Given the description of an element on the screen output the (x, y) to click on. 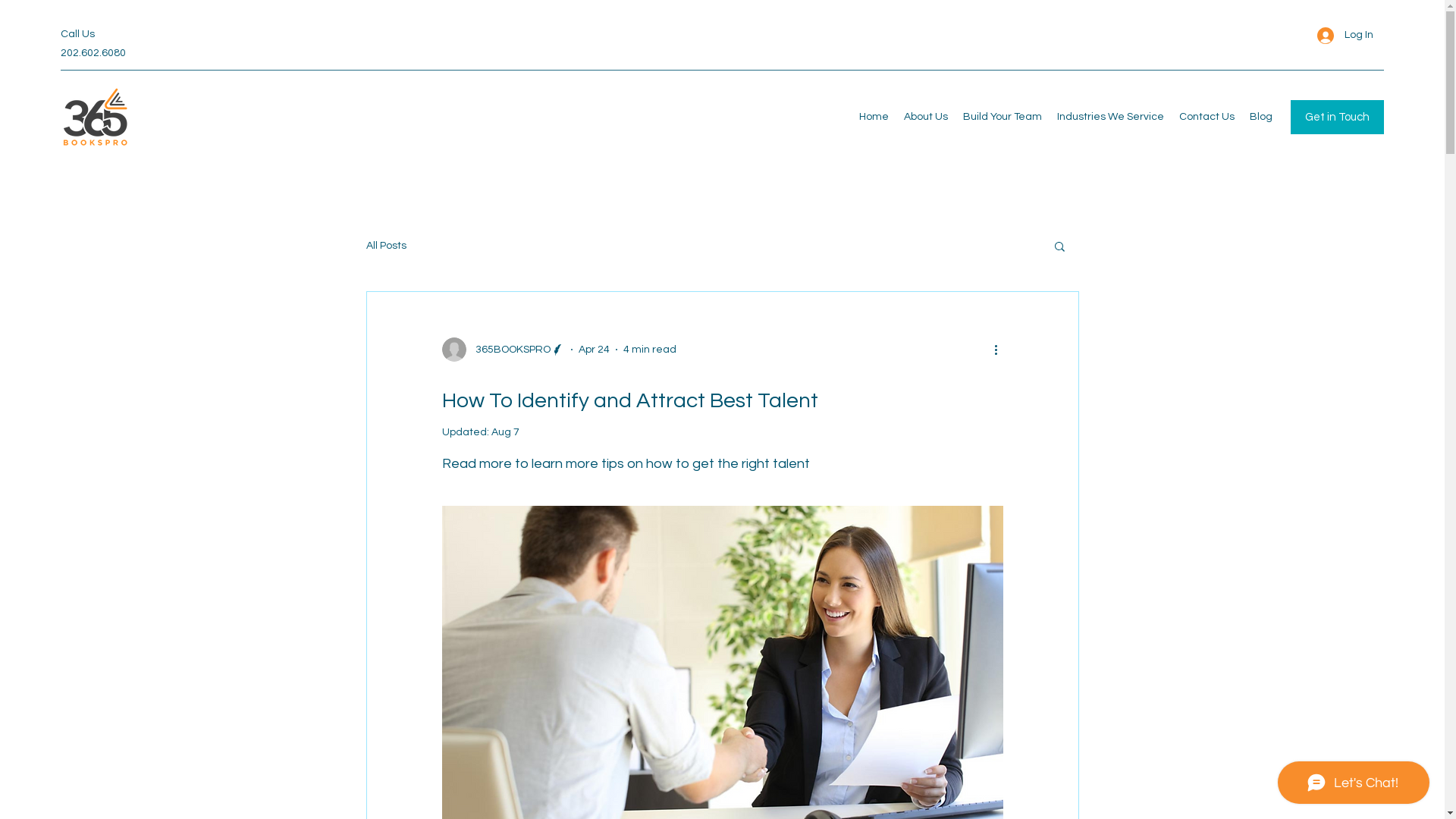
Contact Us Element type: text (1206, 116)
Get in Touch Element type: text (1336, 117)
Build Your Team Element type: text (1002, 116)
Home Element type: text (873, 116)
Industries We Service Element type: text (1110, 116)
365BOOKSPRO Element type: text (502, 349)
Blog Element type: text (1261, 116)
About Us Element type: text (925, 116)
All Posts Element type: text (385, 245)
Log In Element type: text (1344, 35)
